Given the description of an element on the screen output the (x, y) to click on. 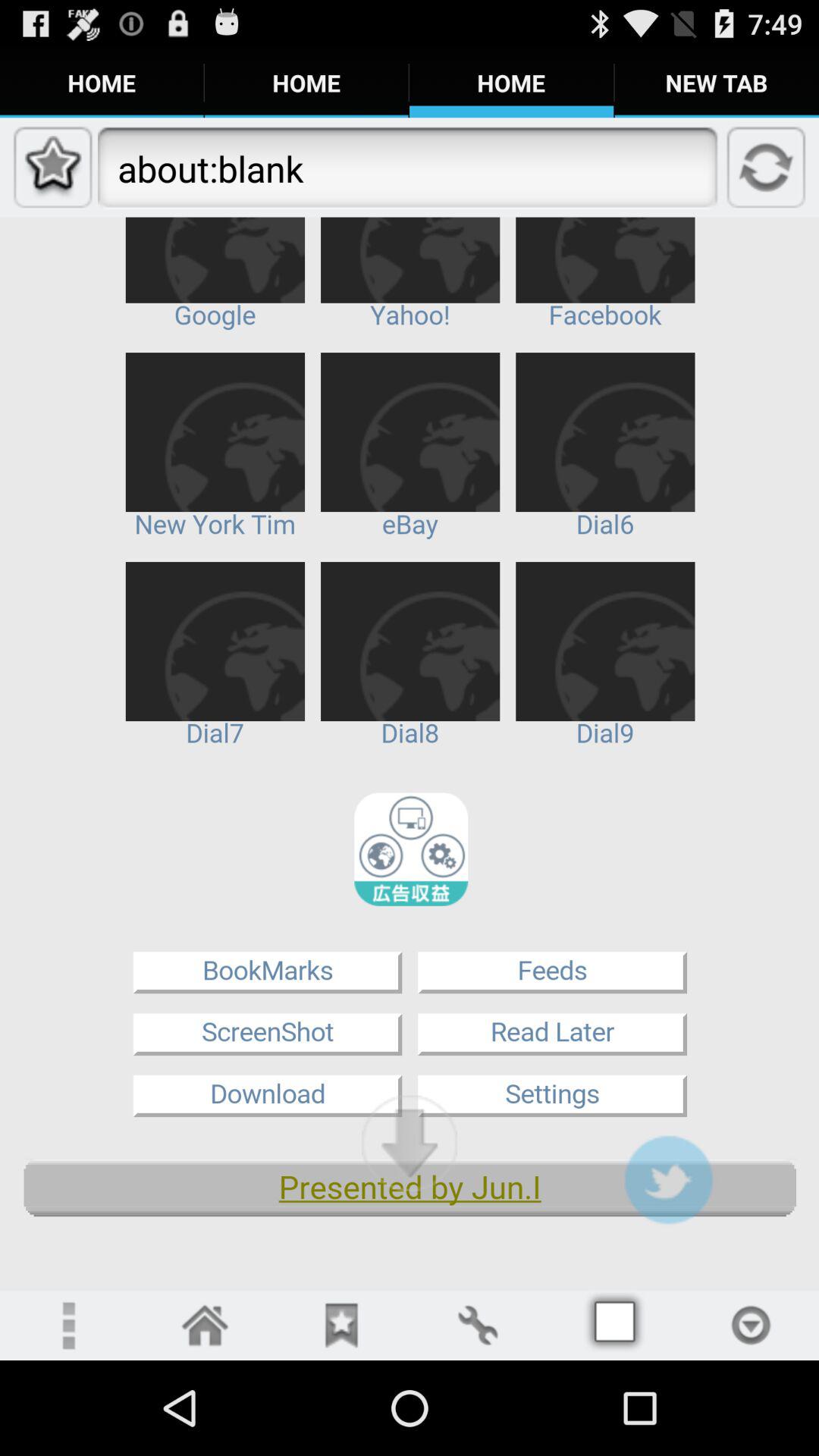
more options (68, 1325)
